Given the description of an element on the screen output the (x, y) to click on. 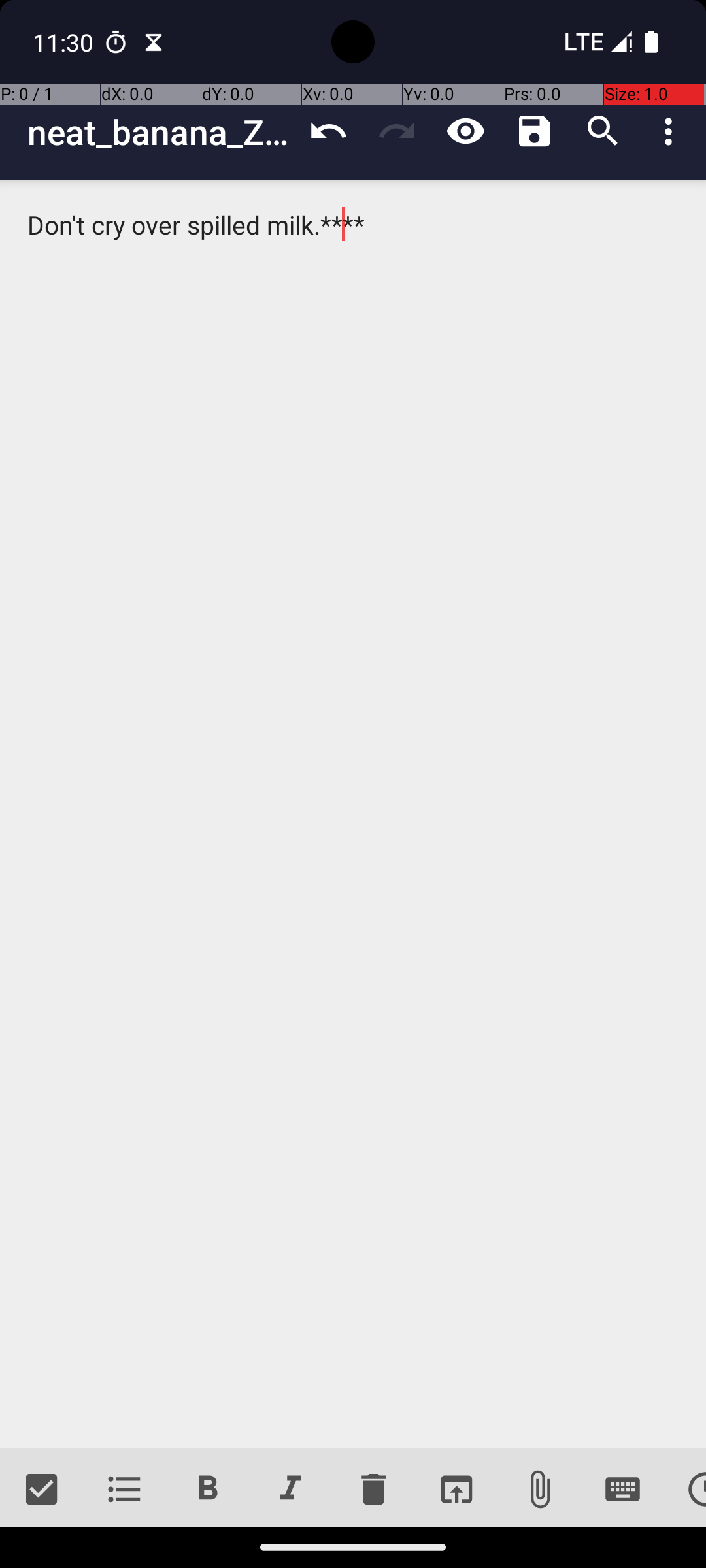
neat_banana_Zjqa Element type: android.widget.TextView (160, 131)
Don't cry over spilled milk.****
 Element type: android.widget.EditText (353, 813)
11:30 Element type: android.widget.TextView (64, 41)
